Given the description of an element on the screen output the (x, y) to click on. 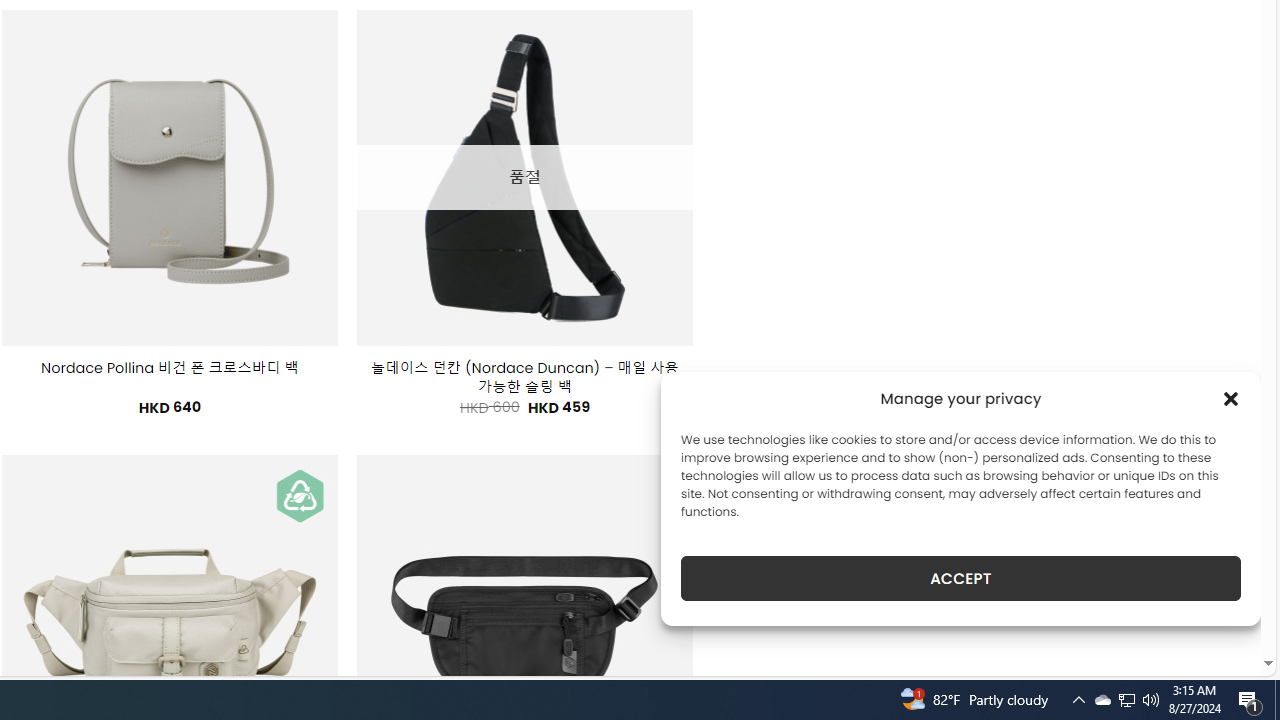
Class: cmplz-close (1231, 398)
ACCEPT (960, 578)
